Given the description of an element on the screen output the (x, y) to click on. 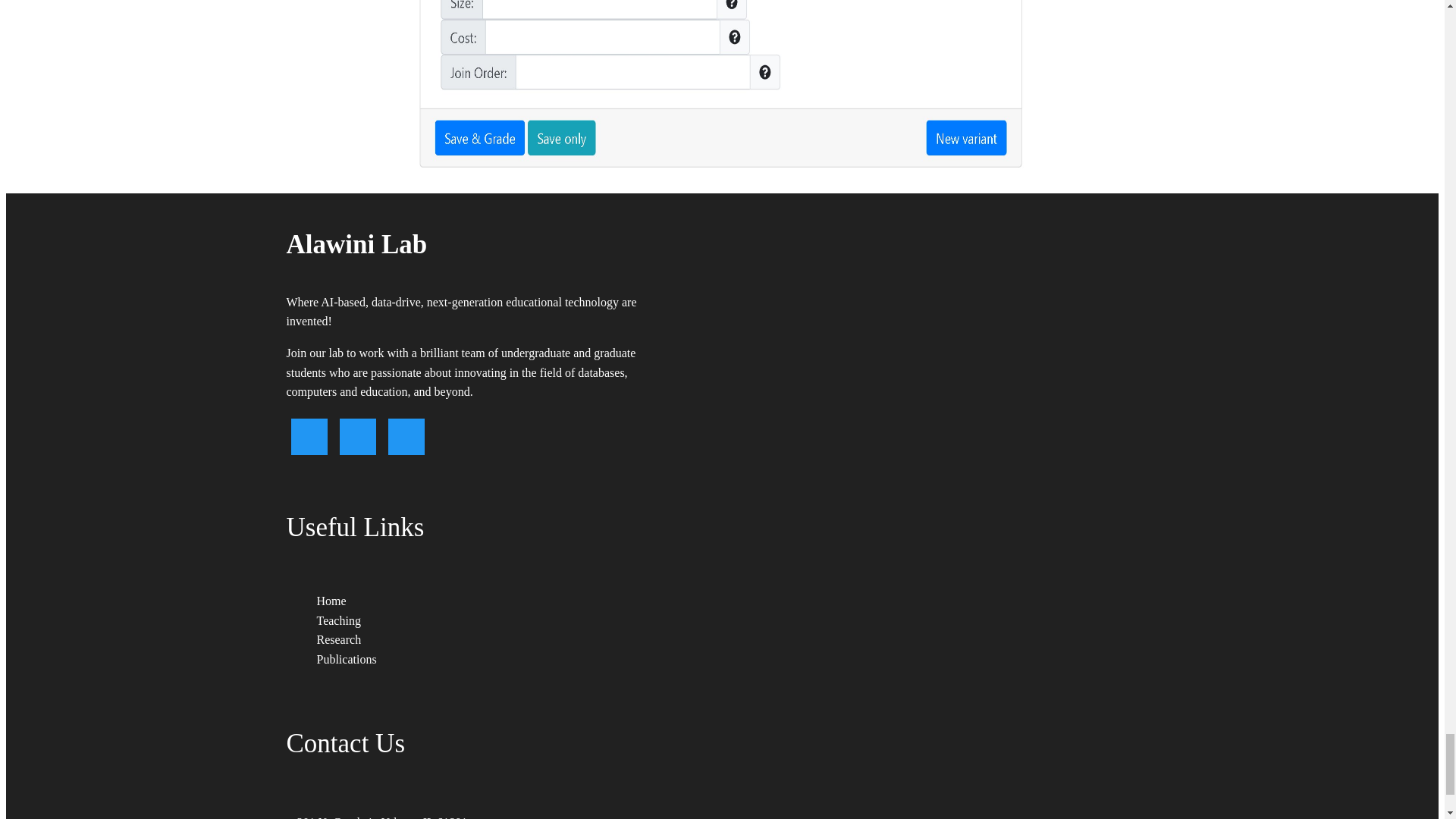
Alawini Lab (478, 244)
Teaching (339, 620)
Home (331, 600)
Publications (347, 658)
Research (339, 639)
